Given the description of an element on the screen output the (x, y) to click on. 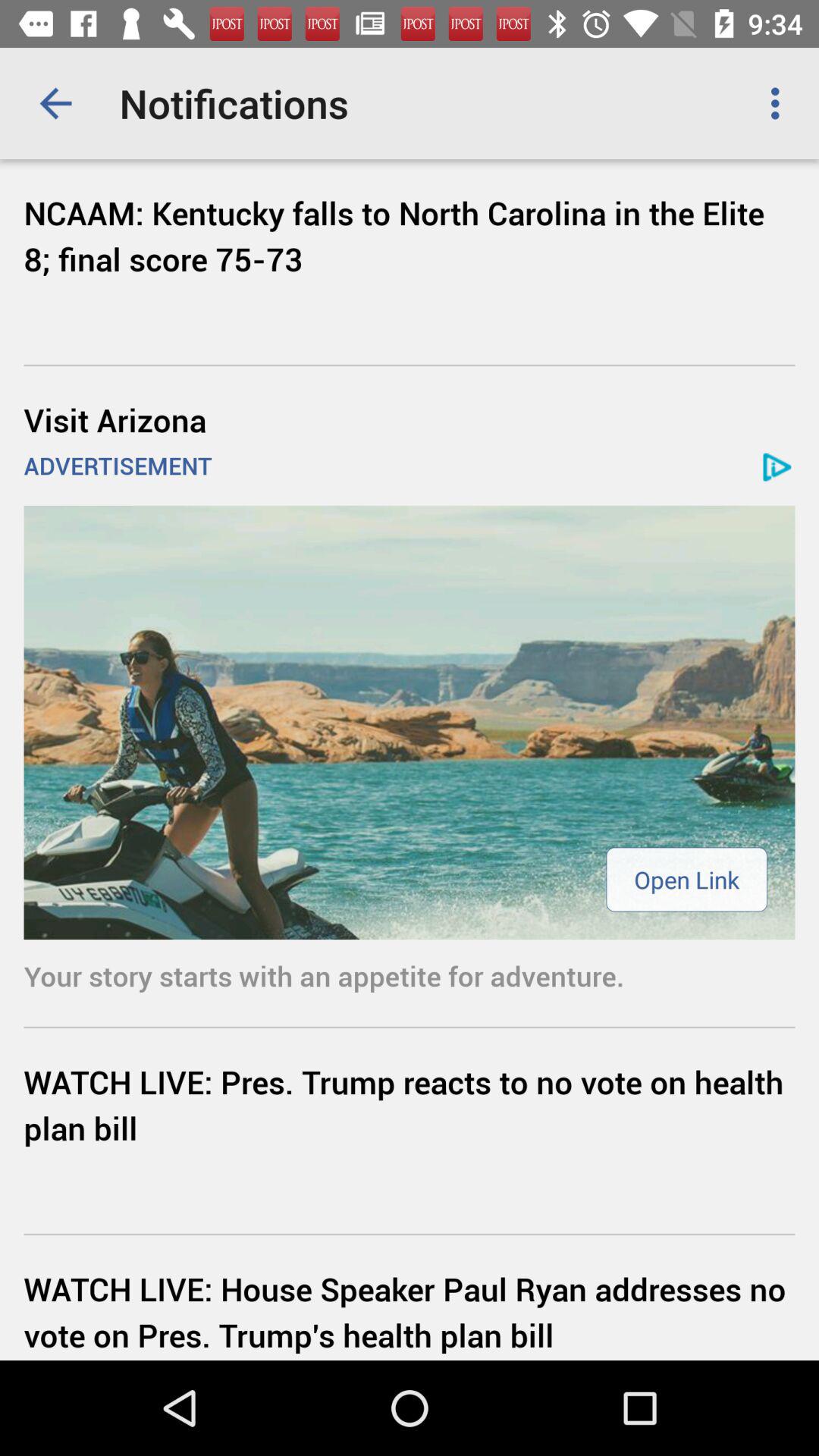
press the open link item (686, 879)
